Given the description of an element on the screen output the (x, y) to click on. 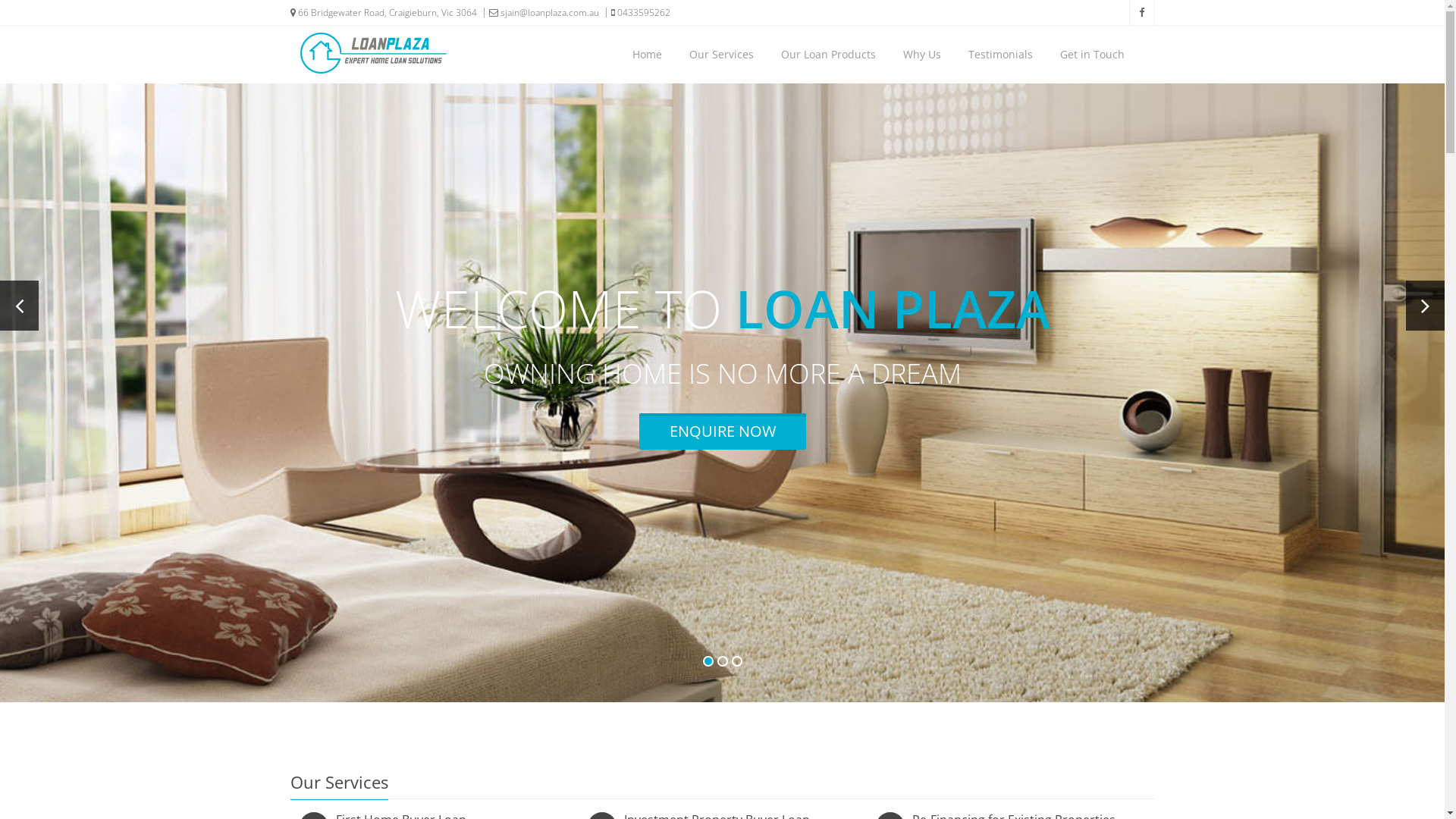
Our Loan Products Element type: text (827, 54)
sjain@loanplaza.com.au Element type: text (539, 12)
Home Element type: text (646, 54)
ENQUIRE NOW Element type: text (721, 431)
Get in Touch Element type: text (1091, 54)
Facebook Element type: hover (1141, 12)
Testimonials Element type: text (1000, 54)
Why Us Element type: text (921, 54)
Our Services Element type: text (721, 54)
0433595262 Element type: text (634, 12)
66 Bridgewater Road, Craigieburn, Vic 3064 Element type: text (382, 12)
